Given the description of an element on the screen output the (x, y) to click on. 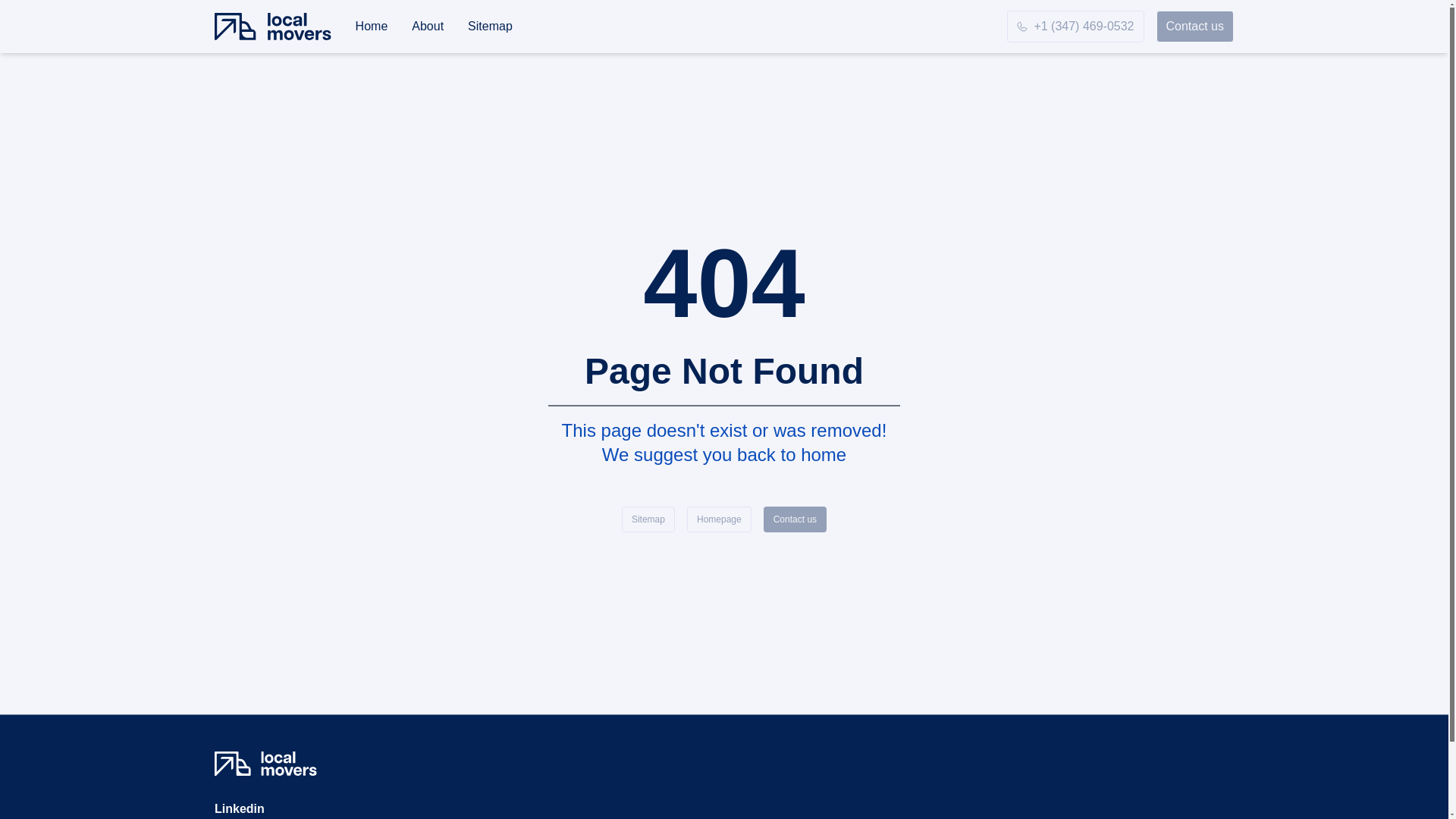
Sitemap (648, 519)
Contact us (794, 519)
Contact us (1194, 26)
Linkedin (239, 808)
Homepage (719, 519)
